Given the description of an element on the screen output the (x, y) to click on. 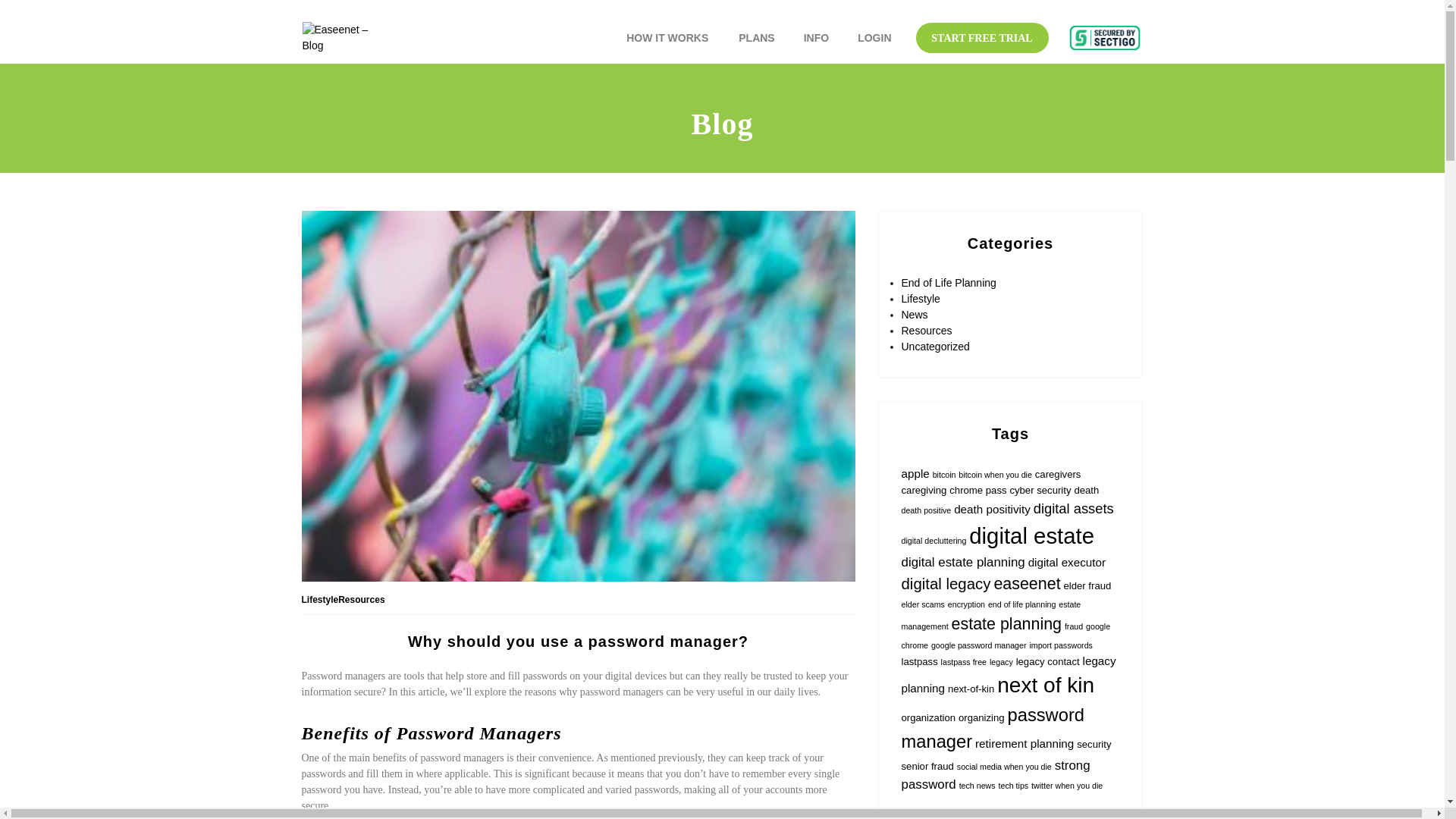
START FREE TRIAL (981, 37)
LOGIN (873, 37)
HOW IT WORKS (667, 37)
START FREE TRIAL (973, 37)
INFO (815, 37)
PLANS (756, 37)
